Given the description of an element on the screen output the (x, y) to click on. 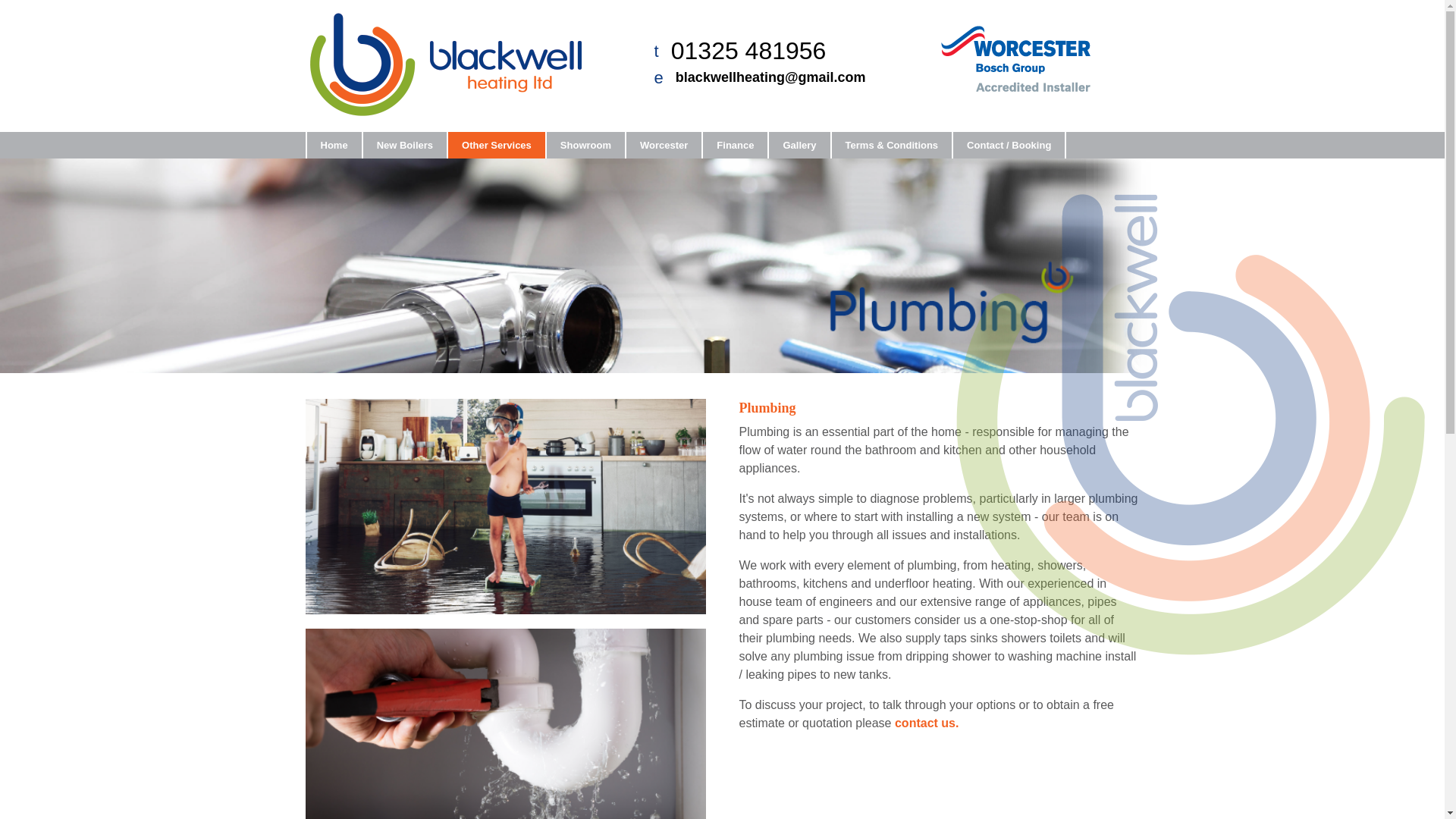
New Boilers (403, 144)
Worcester (662, 144)
New Boilers (403, 144)
Showroom (584, 144)
contact us. (926, 722)
Home (332, 144)
Home (332, 144)
Other Services  (495, 144)
Finance (734, 144)
Finance (734, 144)
Other Services (495, 144)
Worcester (662, 144)
Gallery (798, 144)
Gallery (798, 144)
Showroom (584, 144)
